Given the description of an element on the screen output the (x, y) to click on. 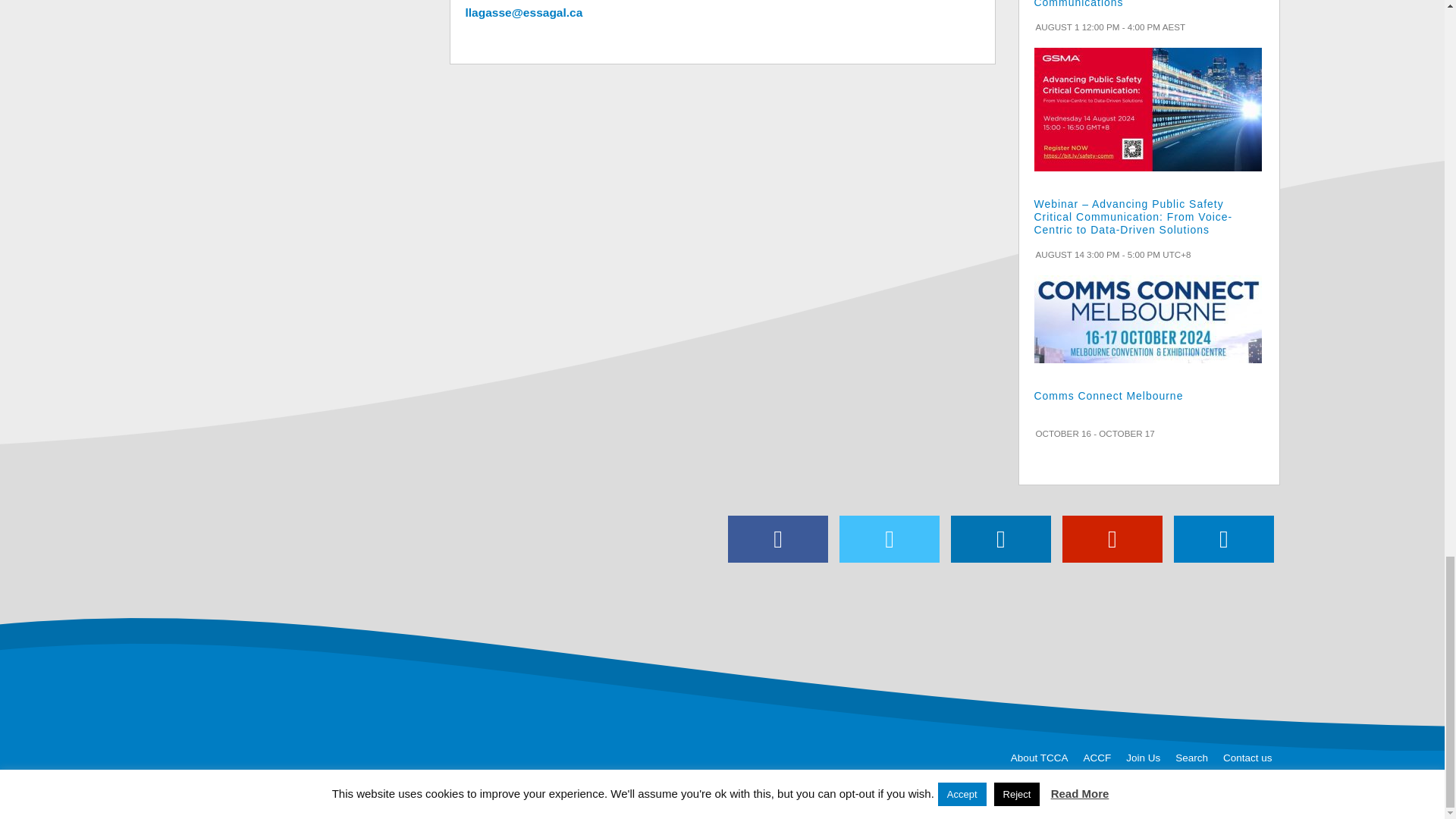
TCCA on Vimeo (1223, 538)
TCCA on Facebook (778, 538)
TCCA on YouTube (1111, 538)
TCCA on Twitter (889, 538)
Website design, County Durham, by Peacock Carter (1366, 796)
TCCA on LinkedIn (1000, 538)
